Given the description of an element on the screen output the (x, y) to click on. 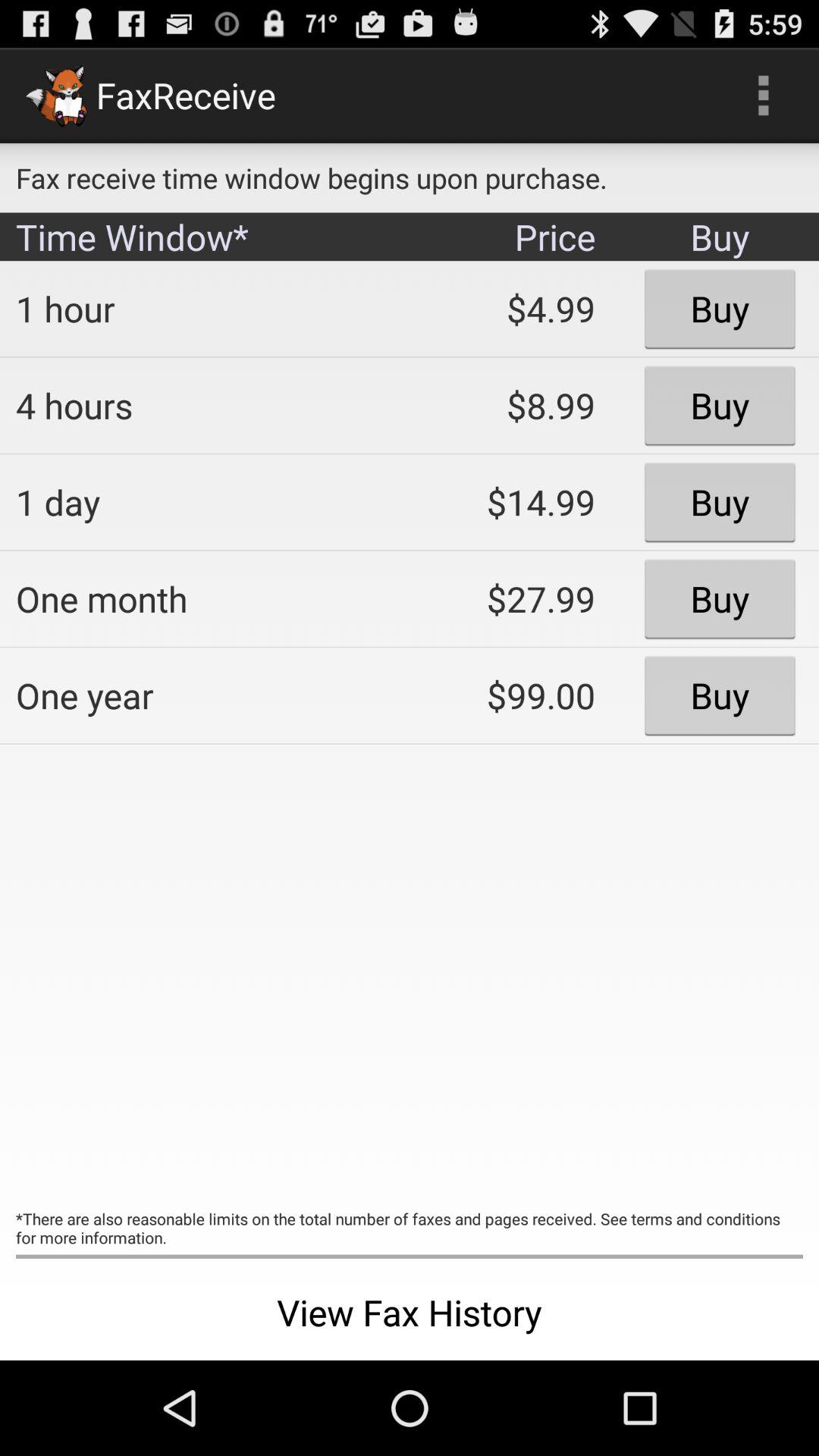
click the one year (201, 695)
